Given the description of an element on the screen output the (x, y) to click on. 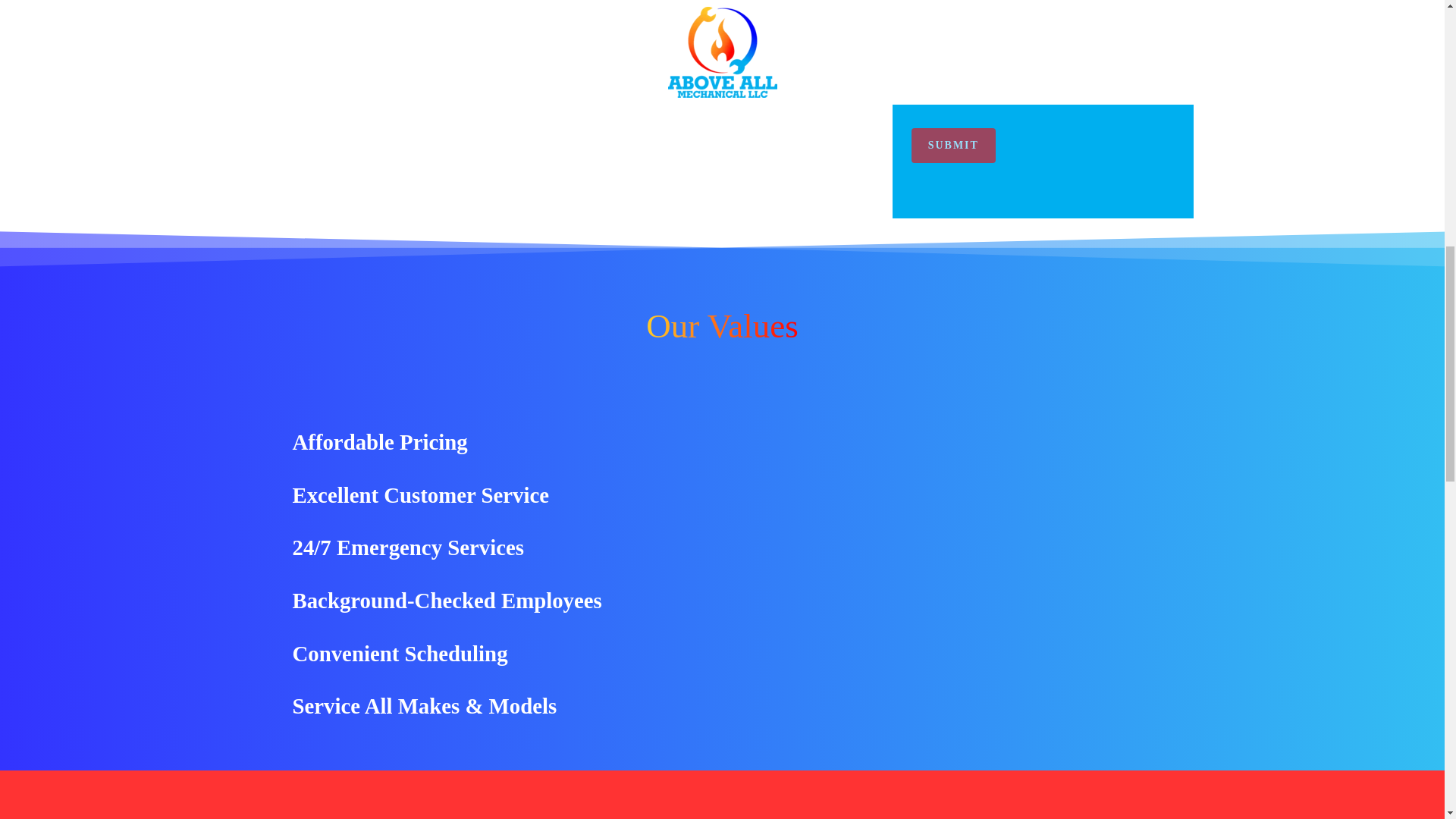
Submit (953, 144)
